Given the description of an element on the screen output the (x, y) to click on. 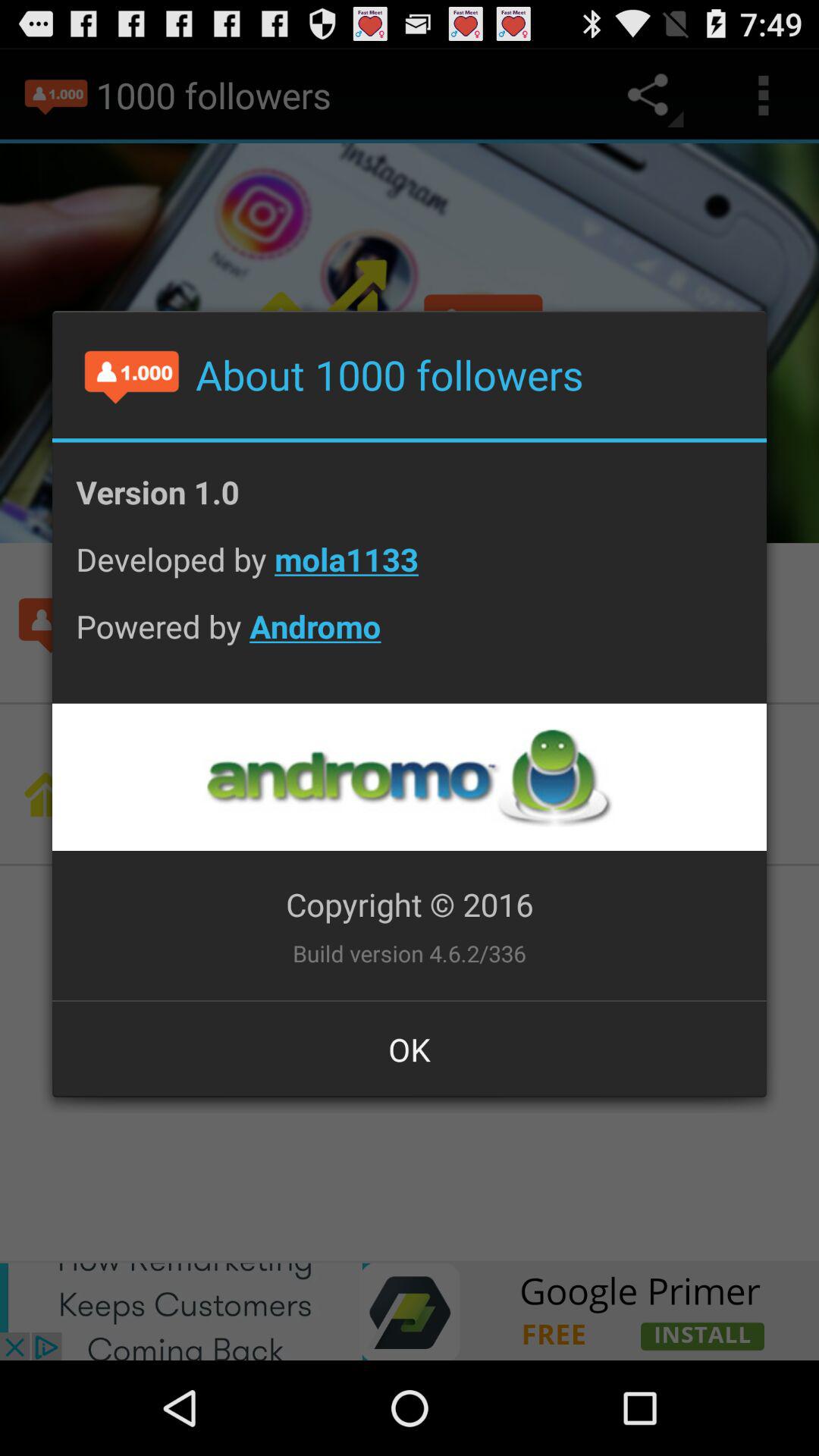
company logo (408, 776)
